Given the description of an element on the screen output the (x, y) to click on. 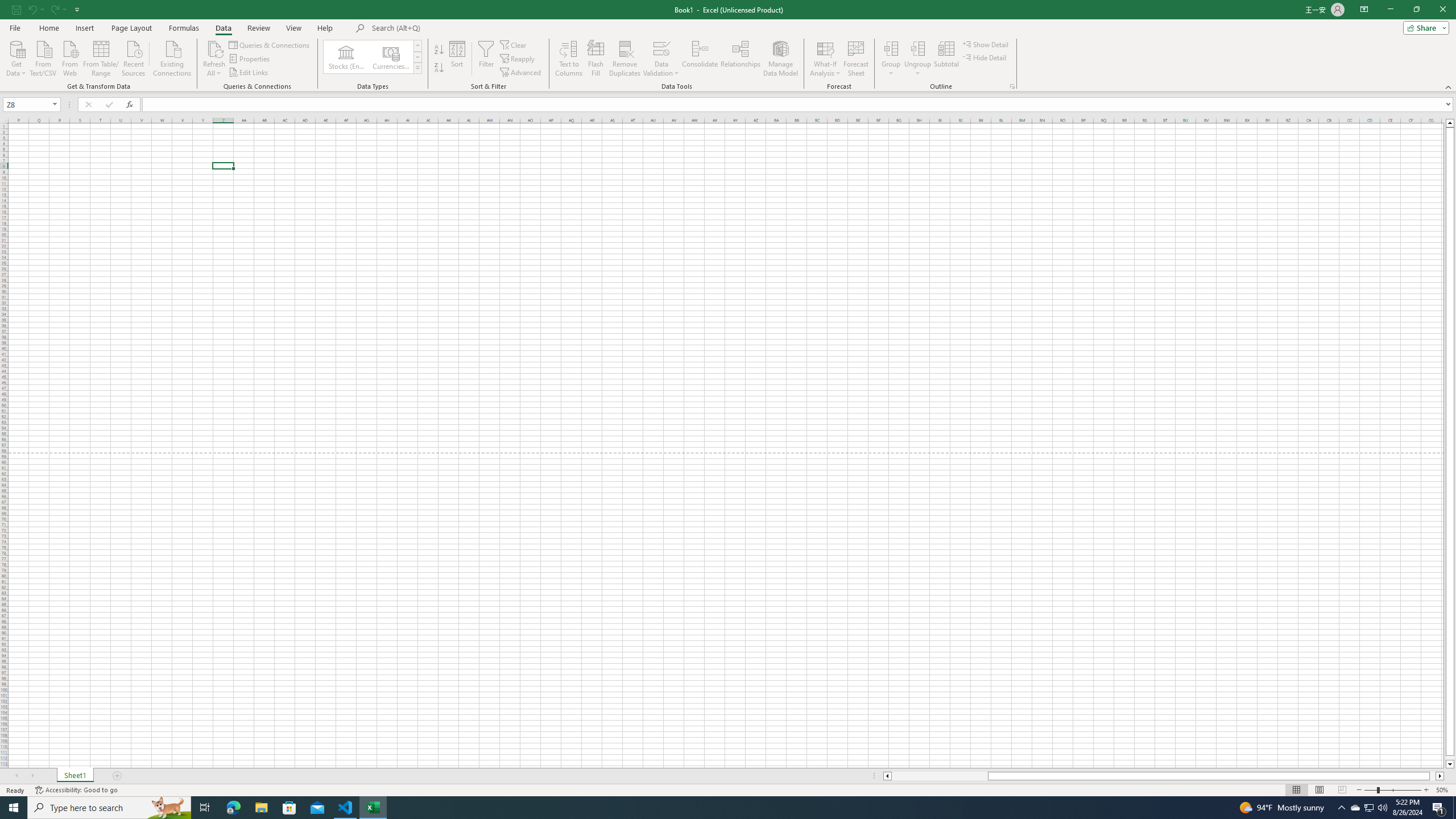
Consolidate... (700, 58)
